Given the description of an element on the screen output the (x, y) to click on. 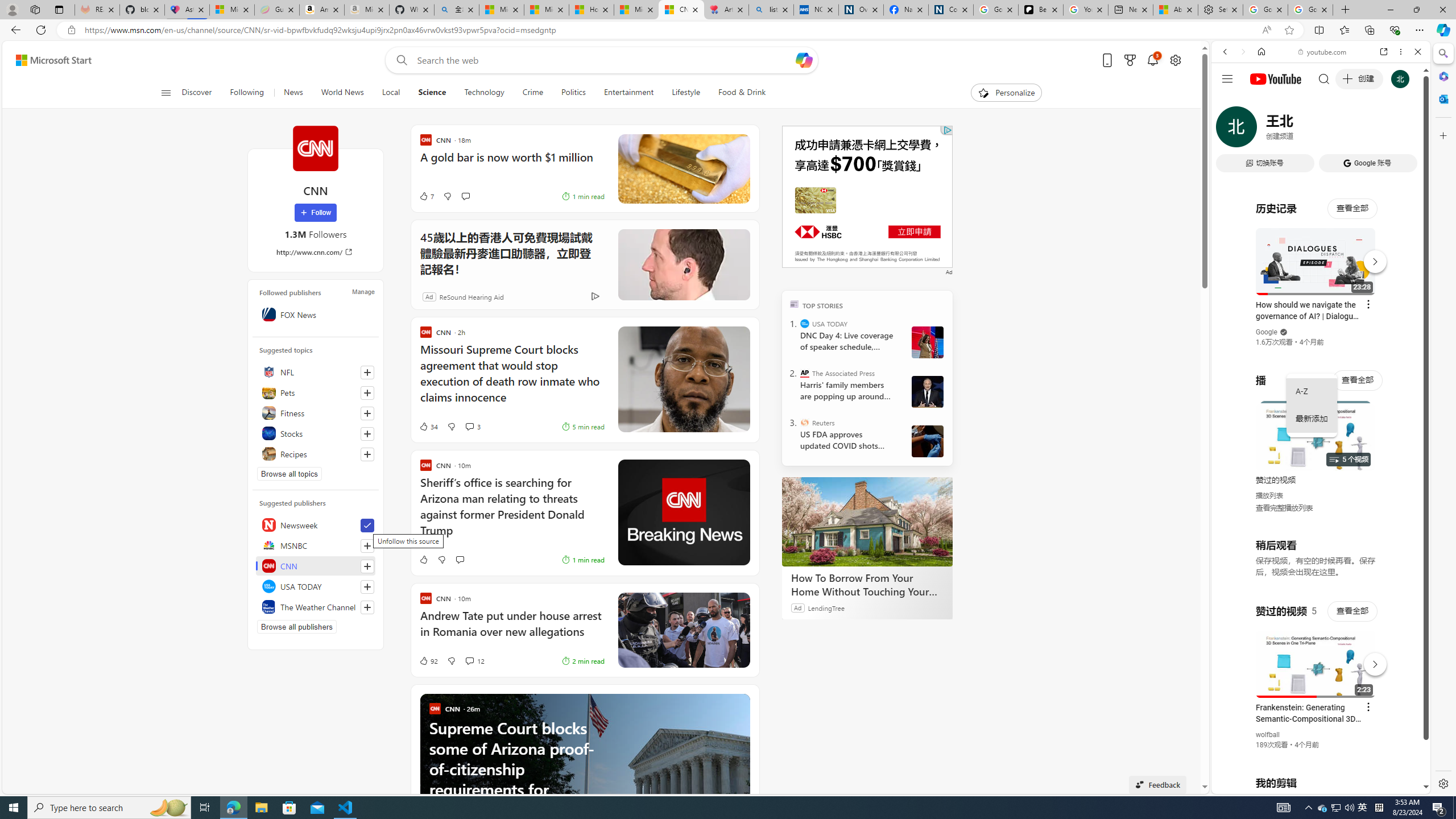
Be Smart | creating Science videos | Patreon (1040, 9)
Local (390, 92)
VIDEOS (1300, 130)
CNN (315, 565)
Web scope (1230, 102)
